Given the description of an element on the screen output the (x, y) to click on. 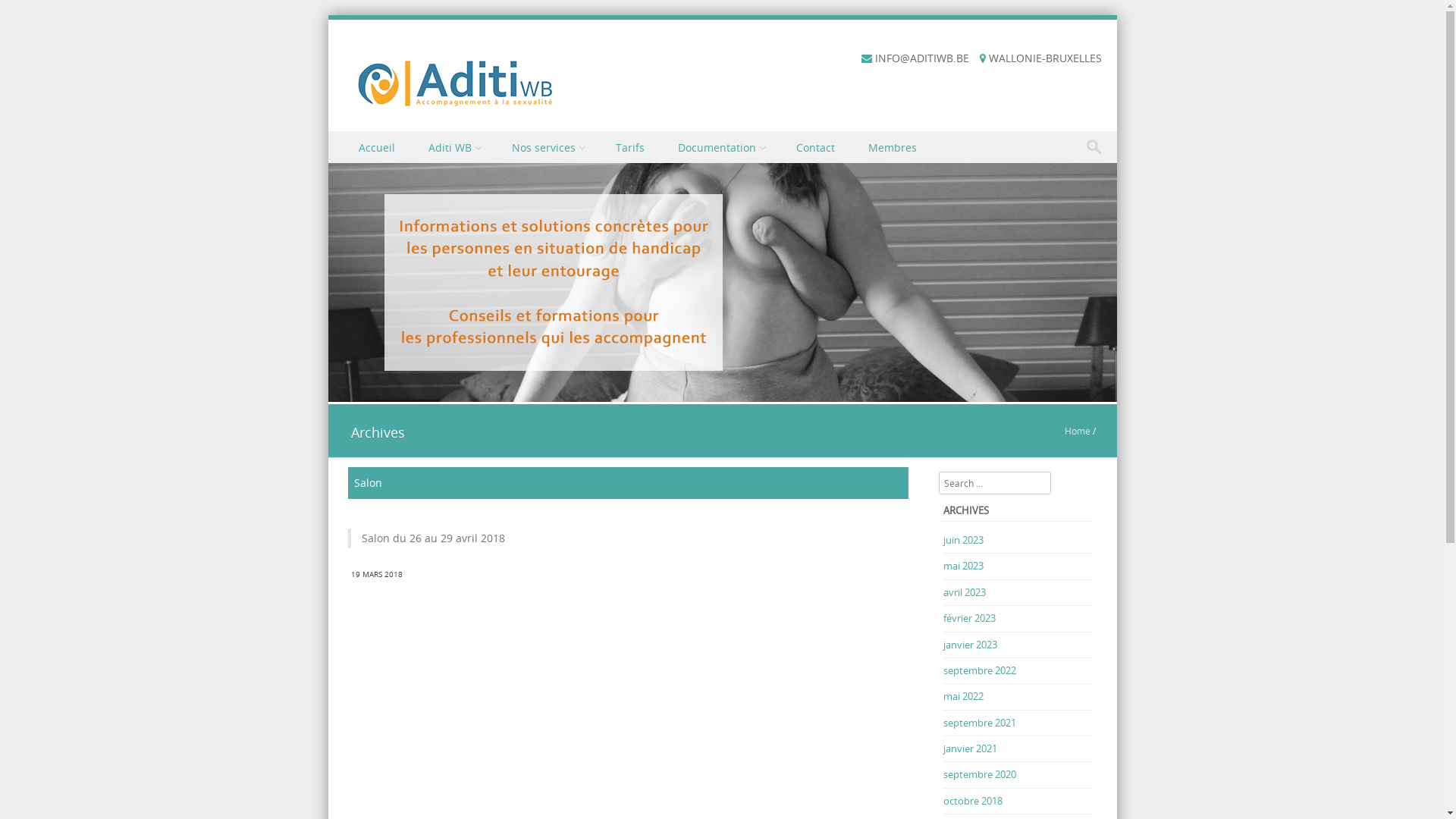
Documentation Element type: text (721, 147)
Aditi WB Element type: text (453, 147)
septembre 2022 Element type: text (979, 670)
AditiWB Element type: hover (454, 81)
Contact Element type: text (817, 147)
mai 2023 Element type: text (963, 565)
octobre 2018 Element type: text (972, 800)
avril 2023 Element type: text (964, 592)
Nos services Element type: text (547, 147)
19 MARS 2018 Element type: text (375, 574)
juin 2023 Element type: text (963, 539)
janvier 2023 Element type: text (970, 644)
Menu Element type: text (355, 164)
Home Element type: text (1077, 430)
Membres Element type: text (893, 147)
Tarifs Element type: text (631, 147)
AditiWB Element type: hover (721, 392)
septembre 2021 Element type: text (979, 722)
INFO@ADITIWB.BE Element type: text (922, 57)
Search Element type: text (26, 14)
Accueil Element type: text (377, 147)
mai 2022 Element type: text (963, 695)
Salon Element type: text (367, 482)
septembre 2020 Element type: text (979, 774)
janvier 2021 Element type: text (970, 748)
Skip to content Element type: text (365, 140)
Search for: Element type: hover (1097, 146)
